Given the description of an element on the screen output the (x, y) to click on. 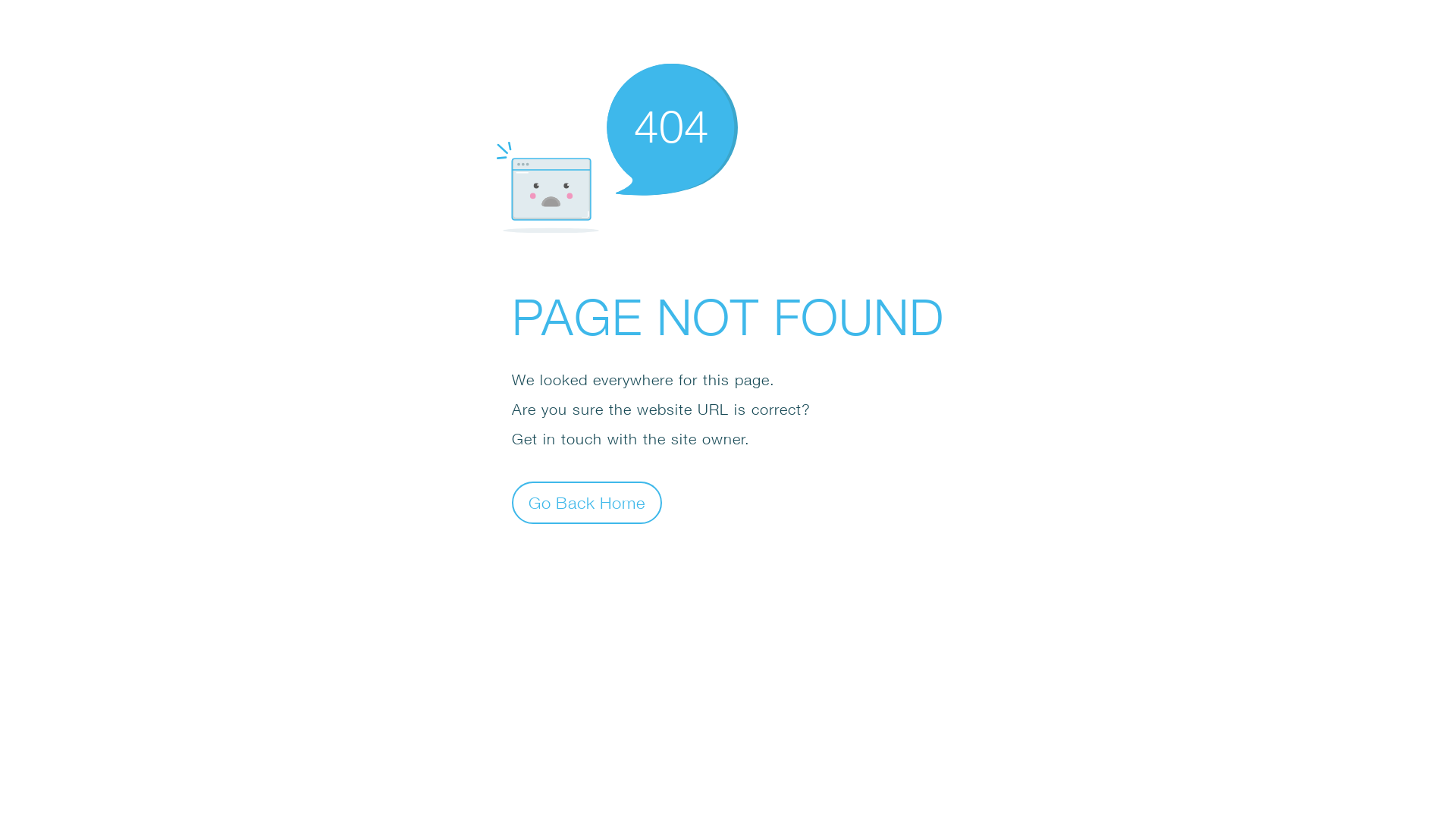
Go Back Home Element type: text (586, 502)
